Given the description of an element on the screen output the (x, y) to click on. 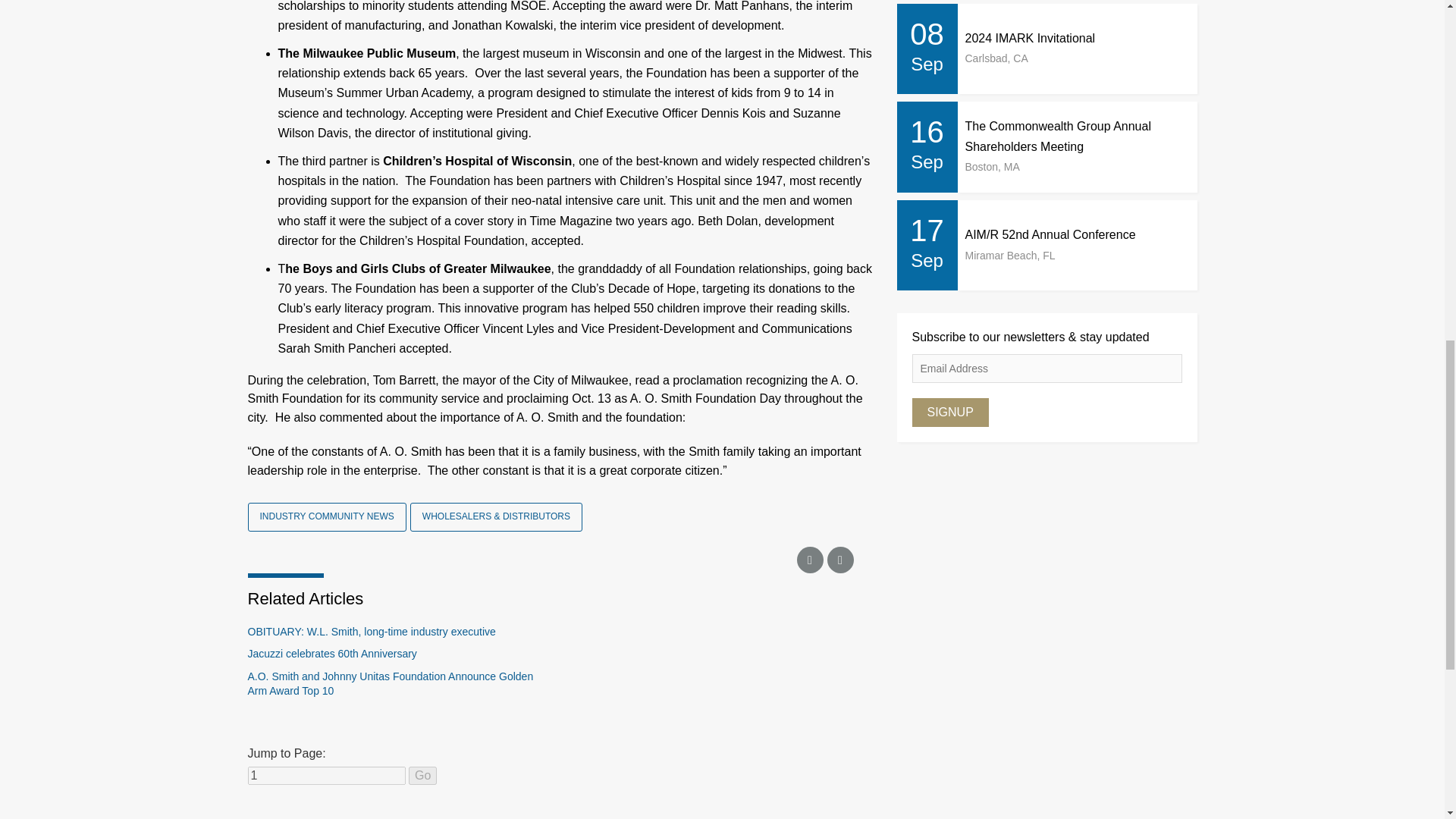
Go (422, 775)
1 (325, 775)
SIGNUP (949, 412)
